Given the description of an element on the screen output the (x, y) to click on. 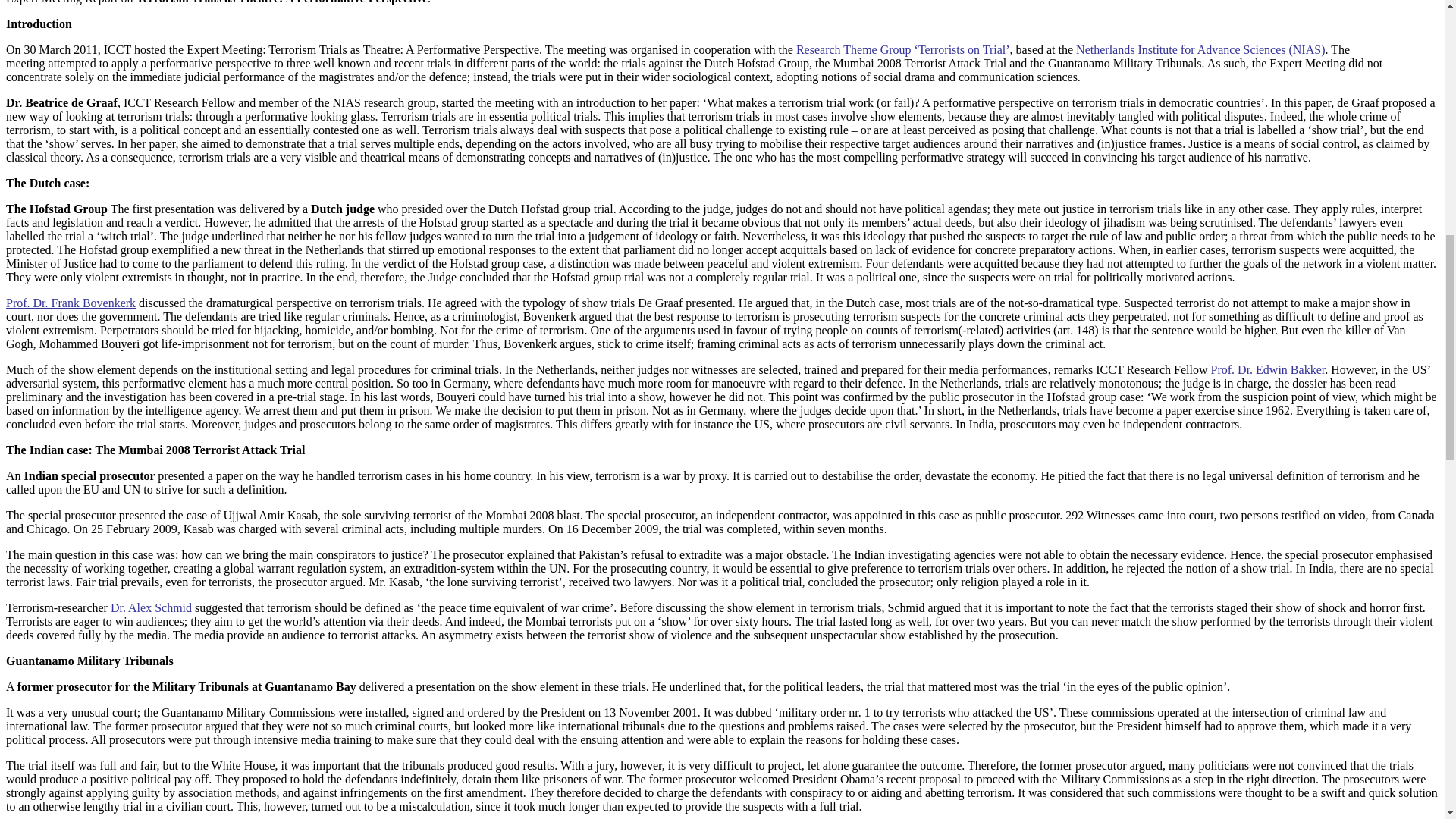
Prof. Dr. Edwin Bakker (1267, 368)
Prof. Dr. Frank Bovenkerk (70, 301)
